Given the description of an element on the screen output the (x, y) to click on. 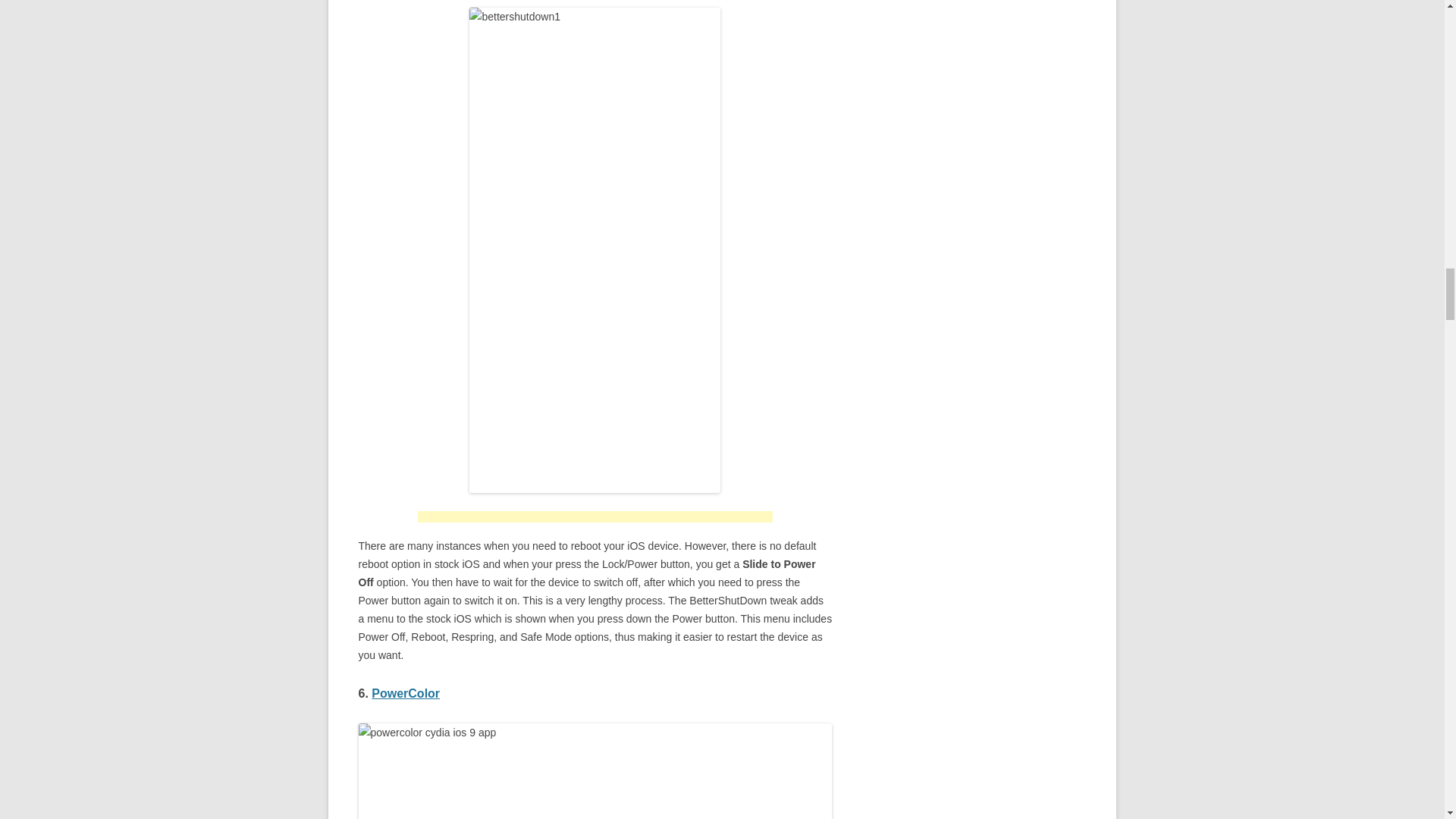
PowerColor (405, 693)
